Given the description of an element on the screen output the (x, y) to click on. 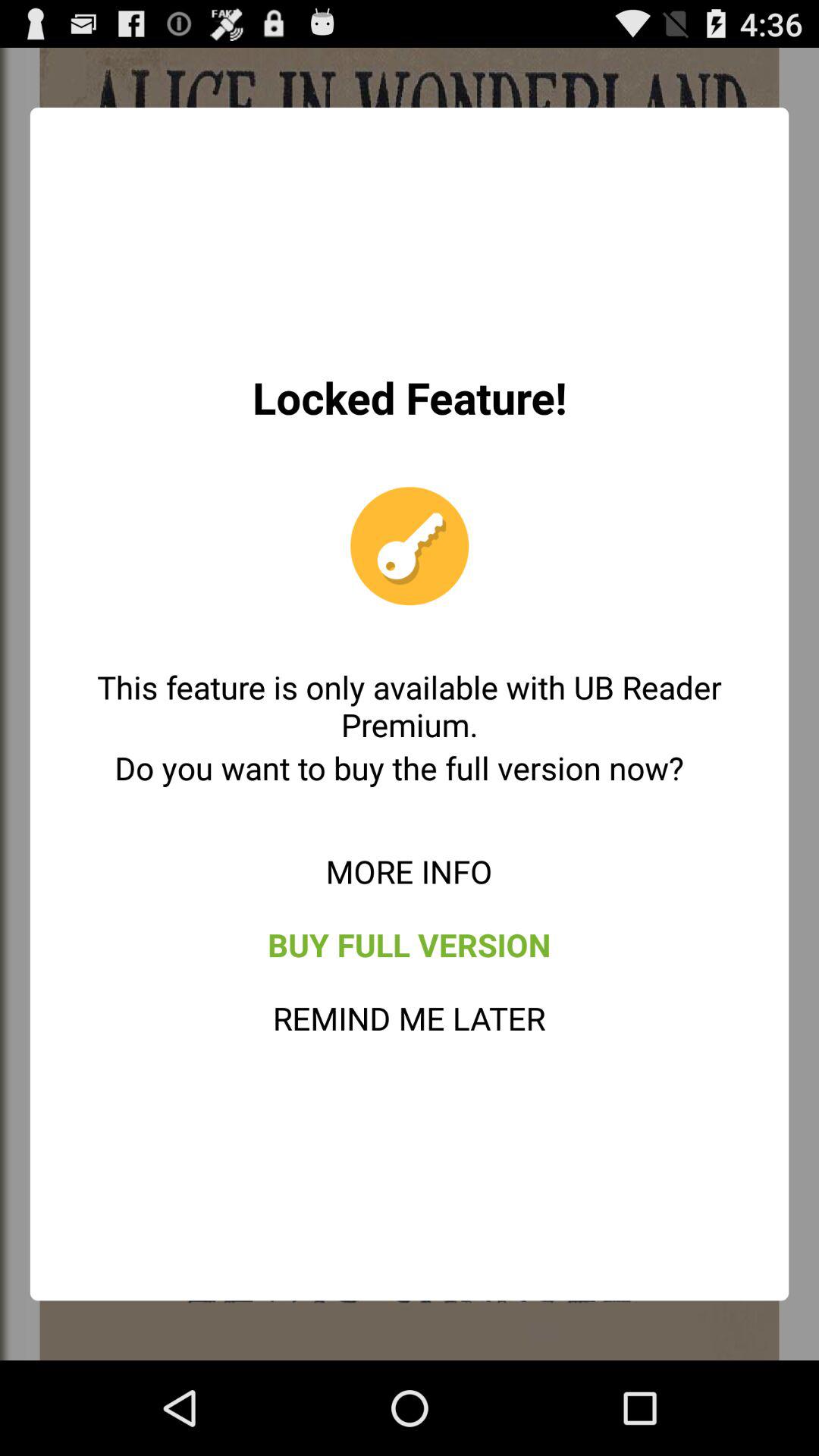
launch the remind me later item (409, 1017)
